Given the description of an element on the screen output the (x, y) to click on. 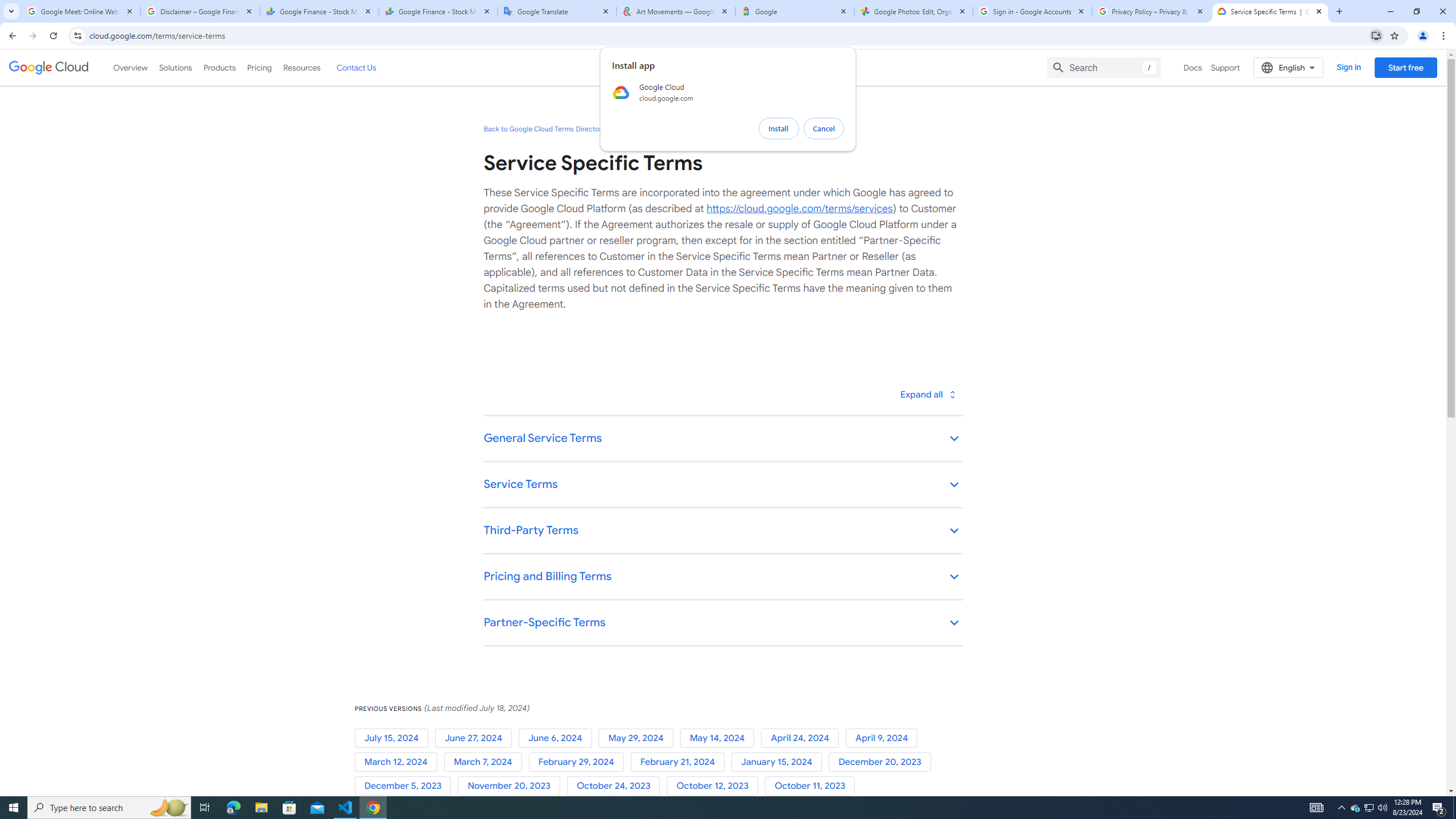
April 24, 2024 (803, 737)
Toggle all (927, 393)
July 15, 2024 (394, 737)
January 15, 2024 (779, 761)
October 12, 2023 (715, 786)
Sign in - Google Accounts (1032, 11)
June 27, 2024 (475, 737)
March 7, 2024 (486, 761)
